Given the description of an element on the screen output the (x, y) to click on. 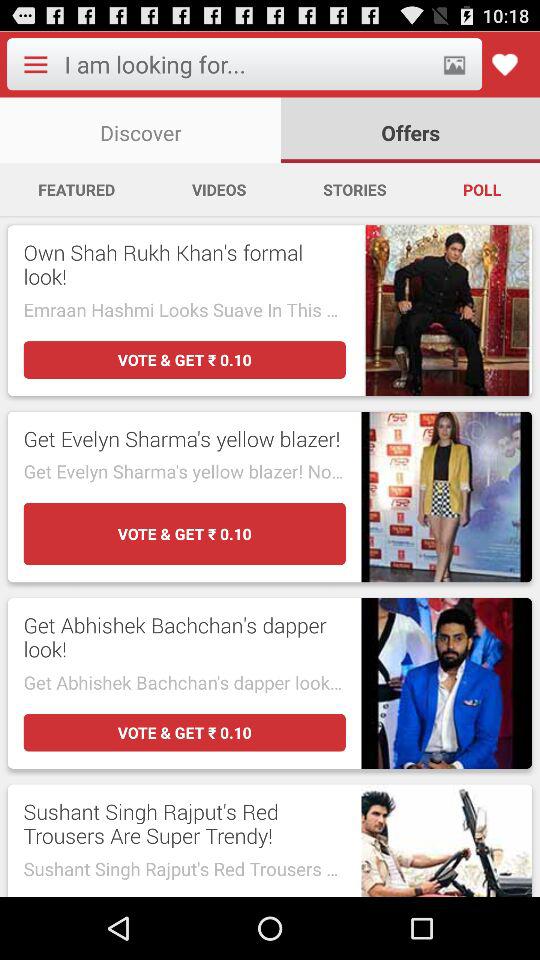
like a search (504, 64)
